Given the description of an element on the screen output the (x, y) to click on. 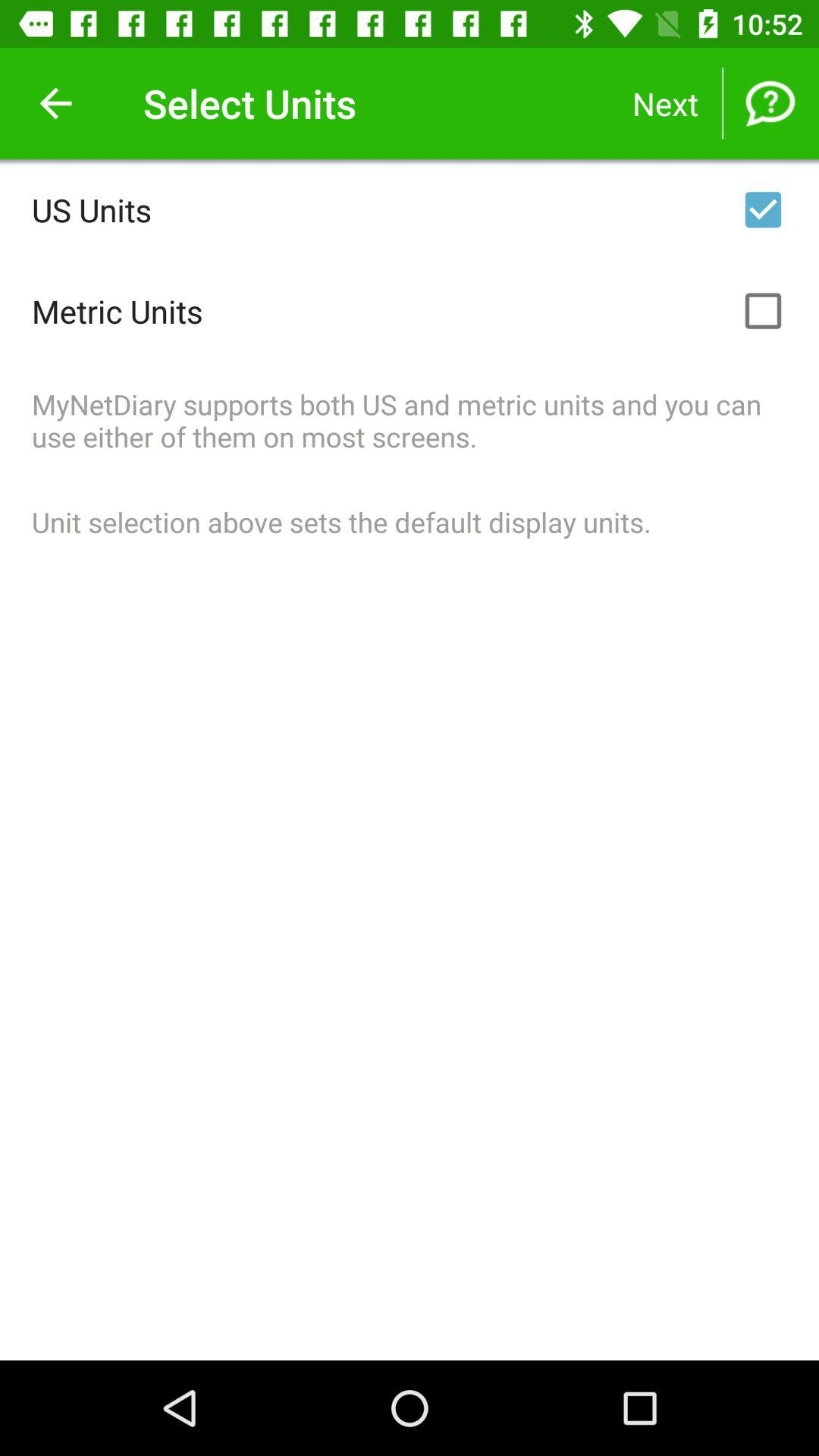
launch icon next to the select units (55, 103)
